Given the description of an element on the screen output the (x, y) to click on. 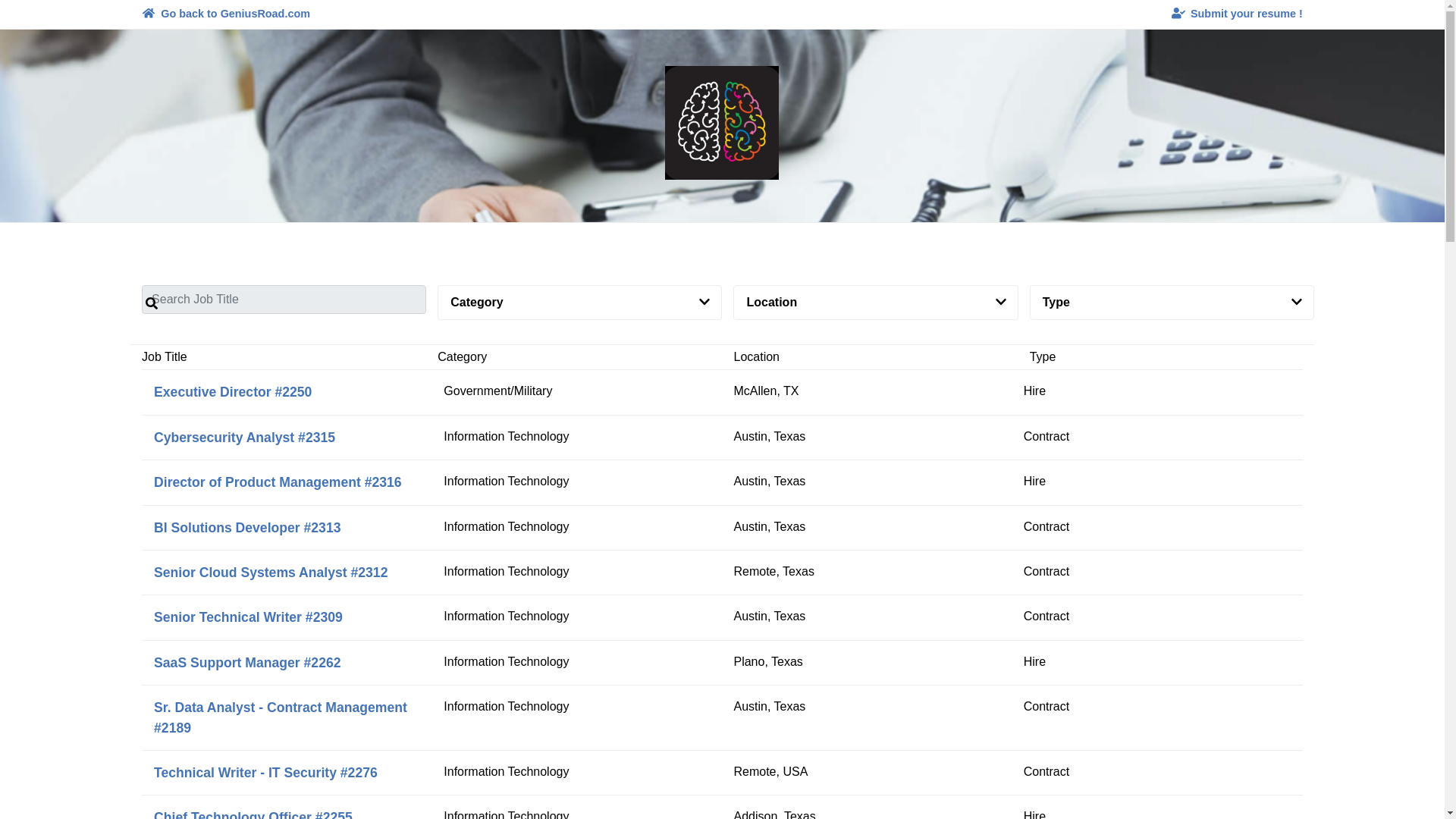
Type (1171, 303)
Submit your resume ! (1237, 13)
Location (875, 303)
Go back to GeniusRoad.com (225, 13)
Category (580, 303)
